Given the description of an element on the screen output the (x, y) to click on. 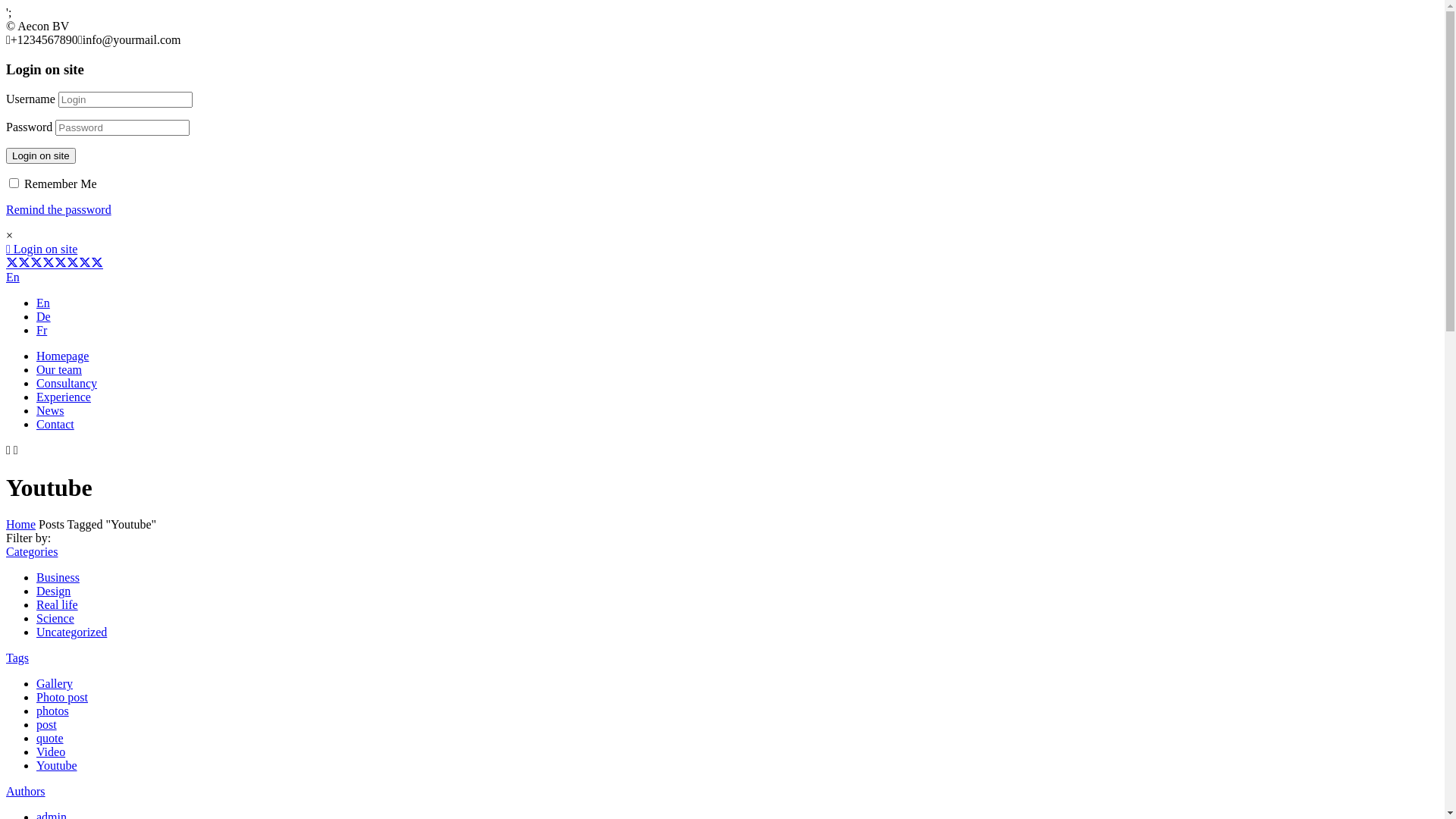
Login on site Element type: text (41, 248)
En Element type: text (43, 302)
Uncategorized Element type: text (71, 631)
Business Element type: text (57, 577)
Youtube Element type: text (56, 765)
photos Element type: text (52, 710)
Login on site Element type: text (40, 155)
Remind the password Element type: text (58, 209)
Consultancy Element type: text (66, 382)
Contact Element type: text (55, 423)
quote Element type: text (49, 737)
Science Element type: text (55, 617)
De Element type: text (43, 316)
Fr Element type: text (41, 329)
Twitter Element type: hover (54, 262)
Authors Element type: text (25, 790)
En Element type: text (12, 276)
Tags Element type: text (17, 657)
Photo post Element type: text (61, 696)
Our team Element type: text (58, 369)
News Element type: text (49, 410)
Homepage Element type: text (62, 355)
Home Element type: text (20, 523)
Design Element type: text (53, 590)
post Element type: text (46, 724)
Real life Element type: text (57, 604)
Categories Element type: text (31, 551)
Experience Element type: text (63, 396)
Video Element type: text (50, 751)
Gallery Element type: text (54, 683)
